Given the description of an element on the screen output the (x, y) to click on. 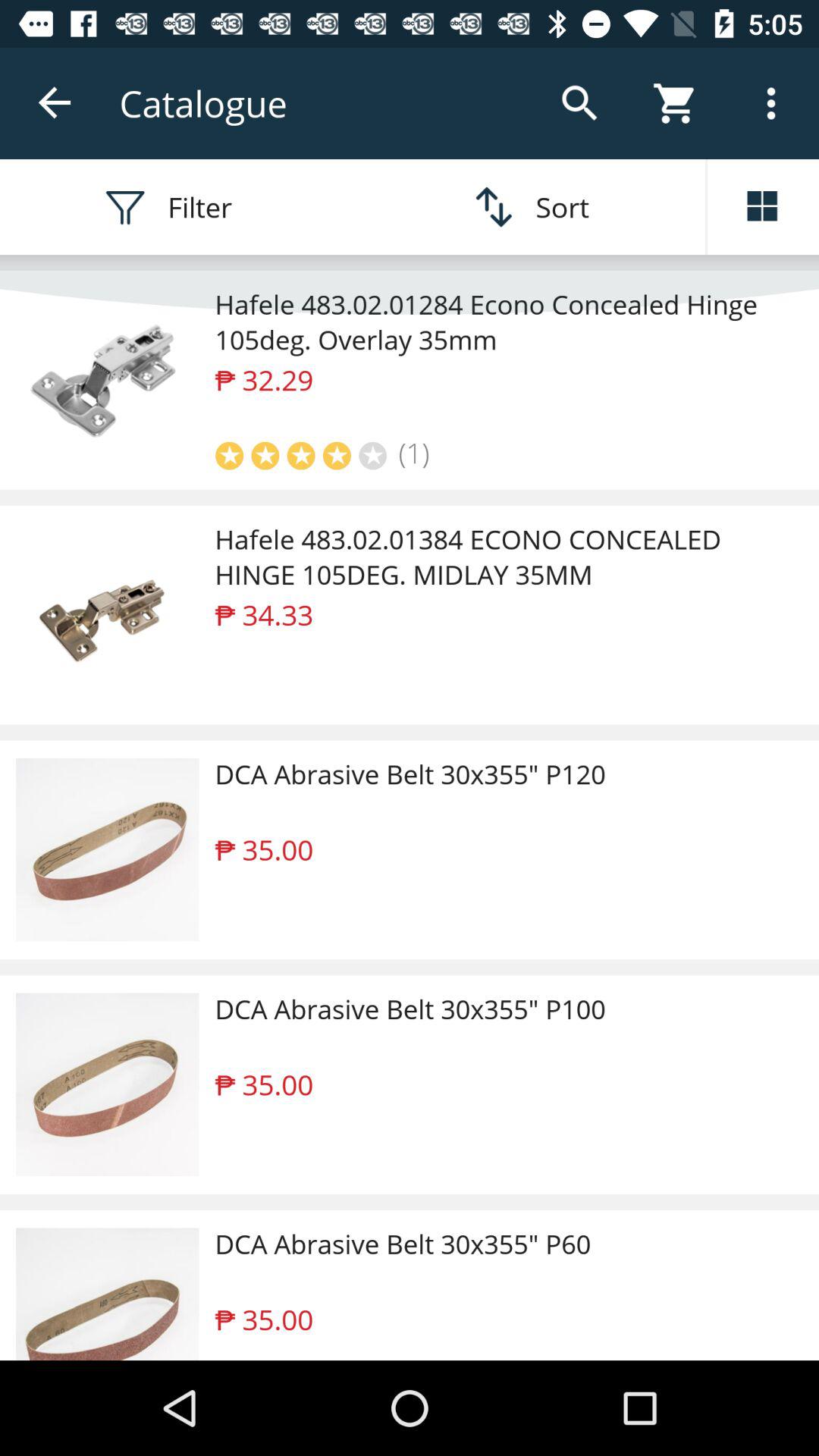
open more information (763, 206)
